Given the description of an element on the screen output the (x, y) to click on. 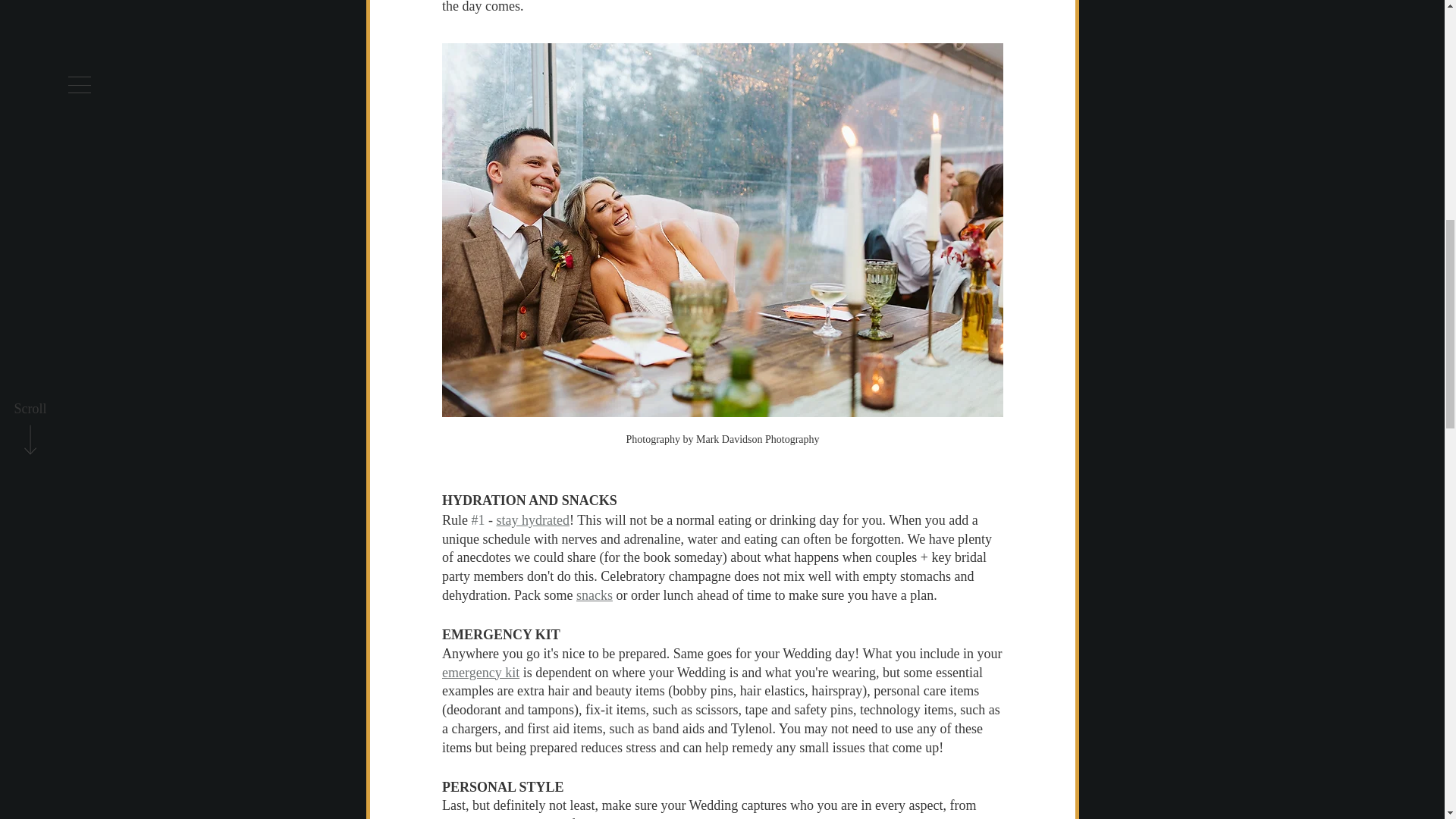
emergency kit (479, 671)
snacks (593, 595)
stay hydrated (532, 519)
